Given the description of an element on the screen output the (x, y) to click on. 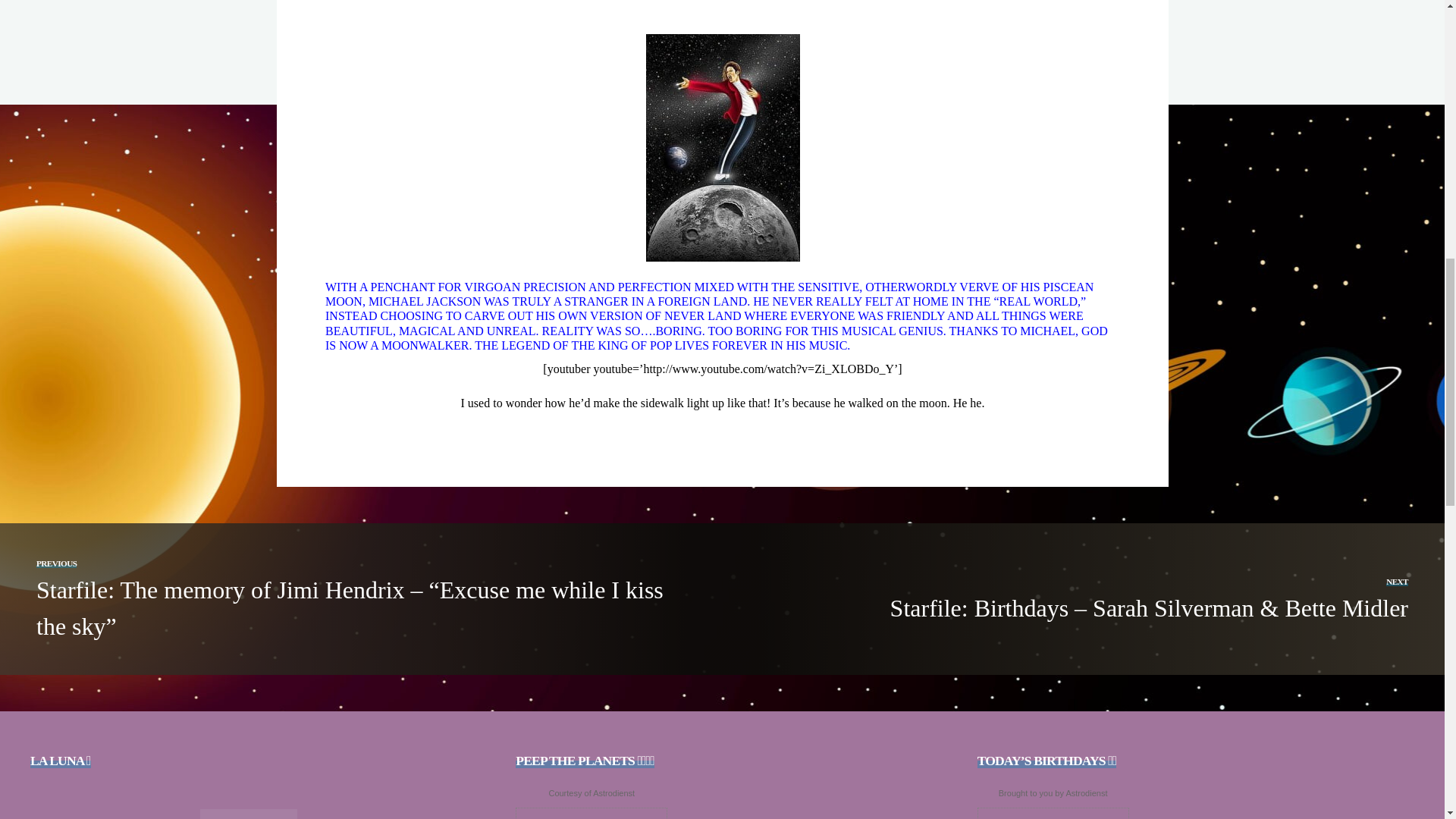
Courtesy of Astrodienst (591, 792)
Third Quarter Moon (248, 814)
Brought to you by Astrodienst (1053, 792)
